Given the description of an element on the screen output the (x, y) to click on. 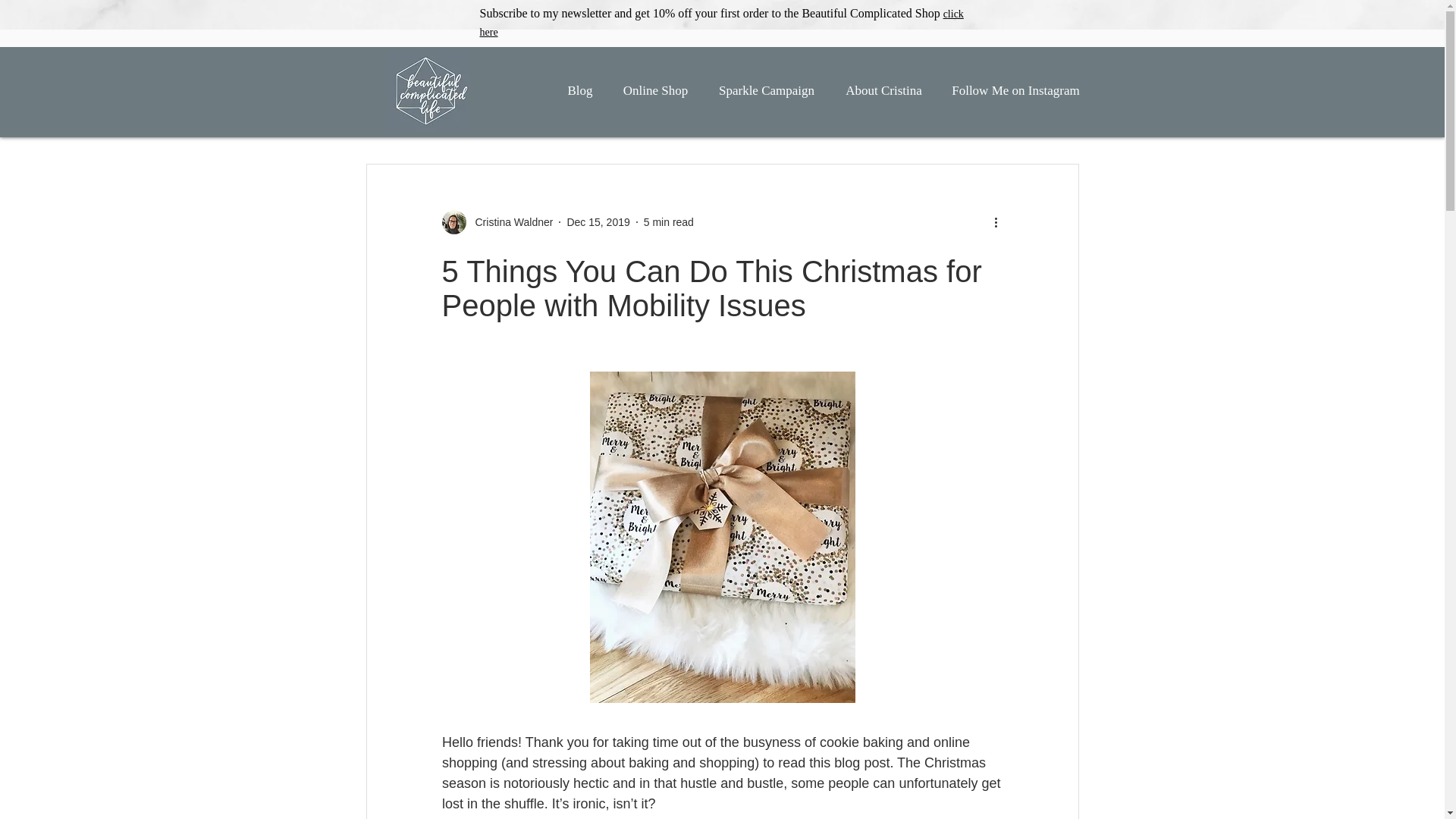
Blog (579, 90)
Online Shop (655, 90)
click here (720, 21)
Follow Me on Instagram (1015, 90)
About Cristina (883, 90)
Cristina Waldner (509, 222)
Dec 15, 2019 (597, 222)
5 min read (668, 222)
logo grey pinstripe 2.jpg (427, 90)
Sparkle Campaign (766, 90)
